Given the description of an element on the screen output the (x, y) to click on. 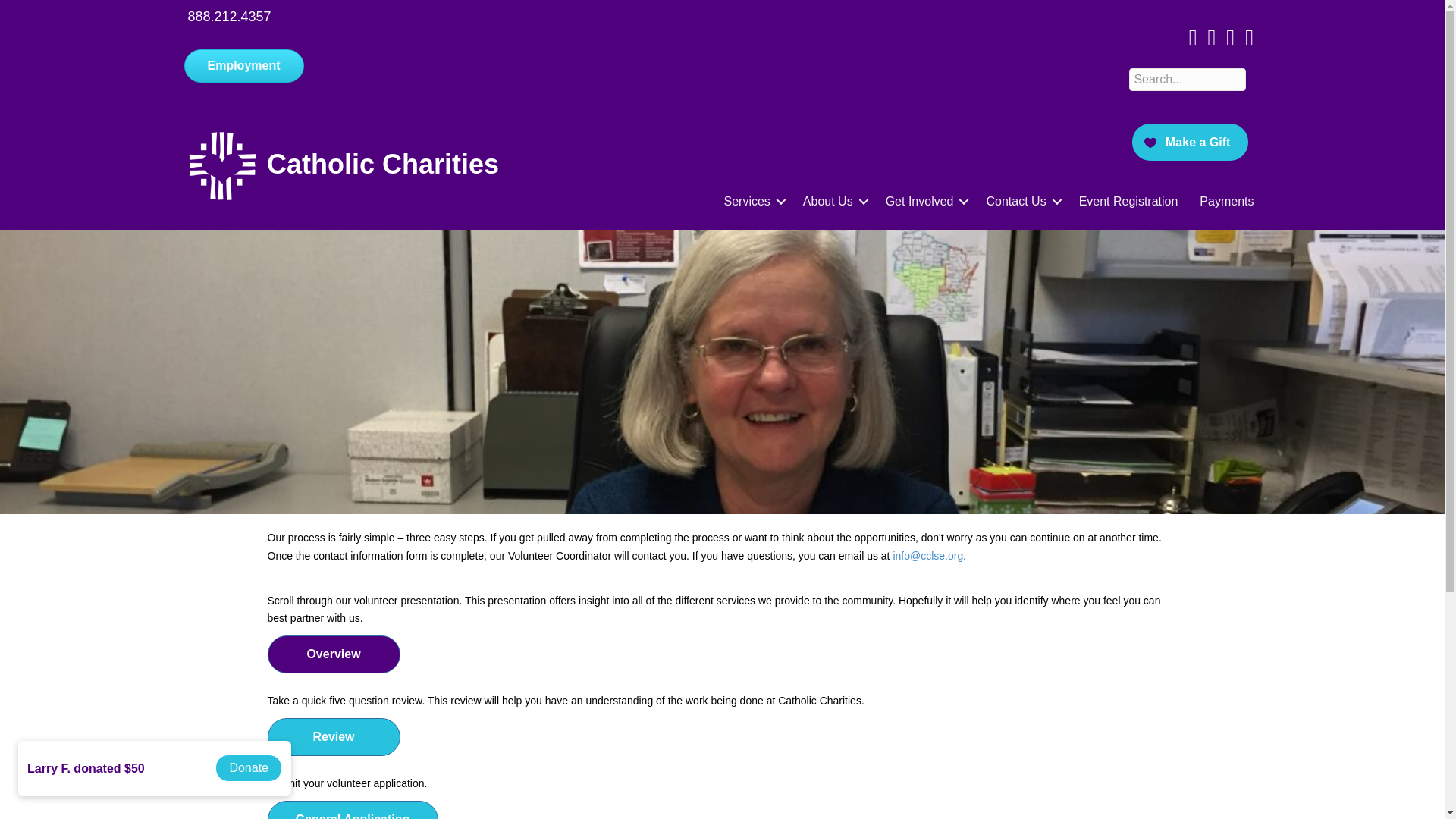
Catholic Charities (382, 163)
Donation Activity Popup (158, 776)
Catholic Charities (382, 163)
Services (751, 201)
Employment (242, 65)
Donate Button (1189, 142)
cropped-cropped-cropped-White-Logo21.png (221, 164)
About Us (833, 201)
